Given the description of an element on the screen output the (x, y) to click on. 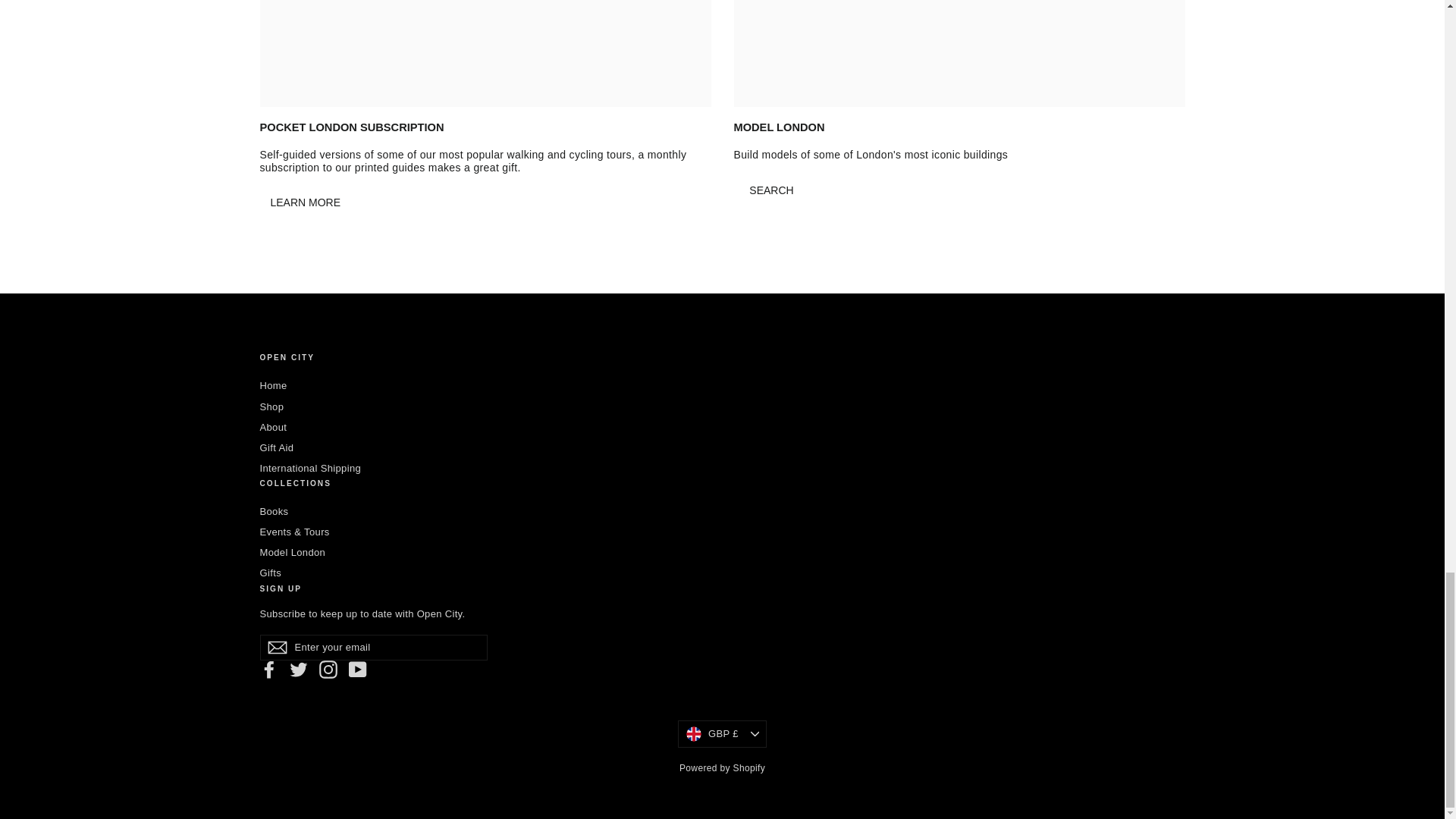
Open City Shop on Instagram (327, 669)
Open City Shop on Twitter (298, 669)
Open City Shop on YouTube (357, 669)
Open City Shop on Facebook (268, 669)
